Given the description of an element on the screen output the (x, y) to click on. 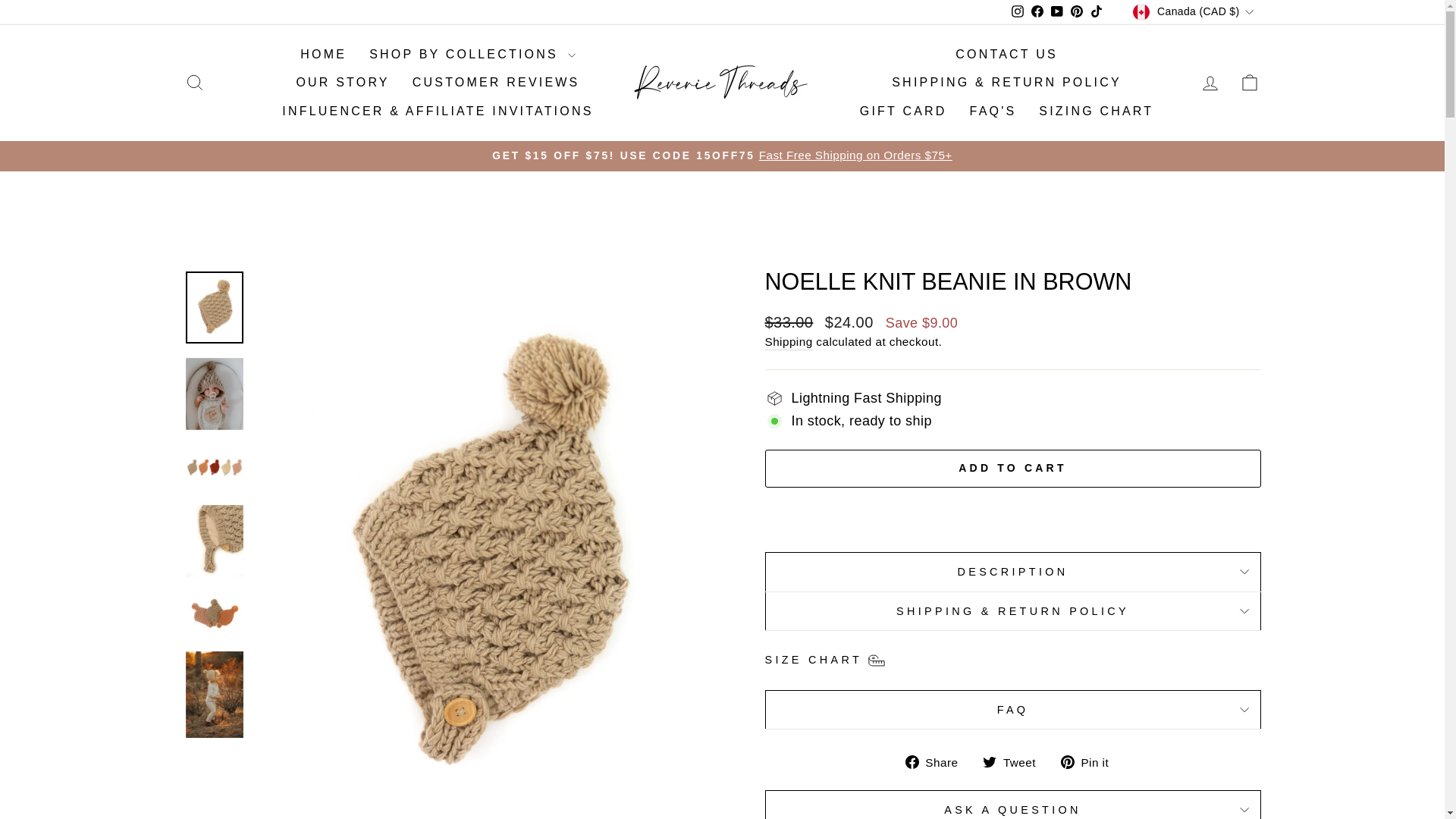
ICON-BAG-MINIMAL (1249, 82)
ICON-SEARCH (194, 82)
ACCOUNT (1210, 83)
Tweet on Twitter (1014, 761)
twitter (988, 762)
Share on Facebook (937, 761)
Pin on Pinterest (1090, 761)
instagram (1017, 10)
